Given the description of an element on the screen output the (x, y) to click on. 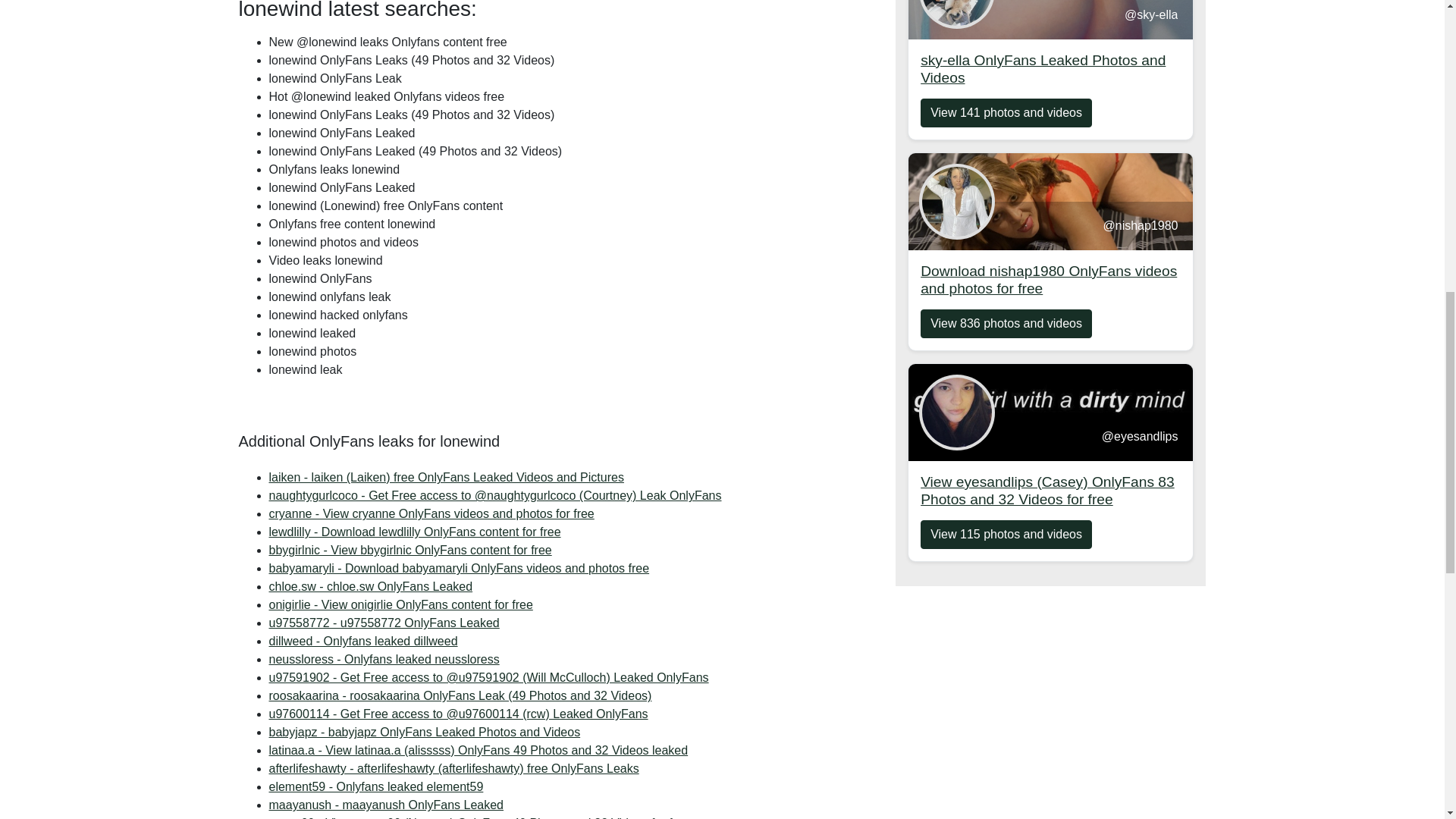
neussloress - Onlyfans leaked neussloress (383, 658)
chloe.sw - chloe.sw OnlyFans Leaked (369, 585)
onigirlie - View onigirlie OnlyFans content for free (399, 604)
bbygirlnic - View bbygirlnic OnlyFans content for free (423, 731)
element59 - Onlyfans leaked element59 (385, 804)
u97558772 - u97558772 OnlyFans Leaked (430, 513)
